Given the description of an element on the screen output the (x, y) to click on. 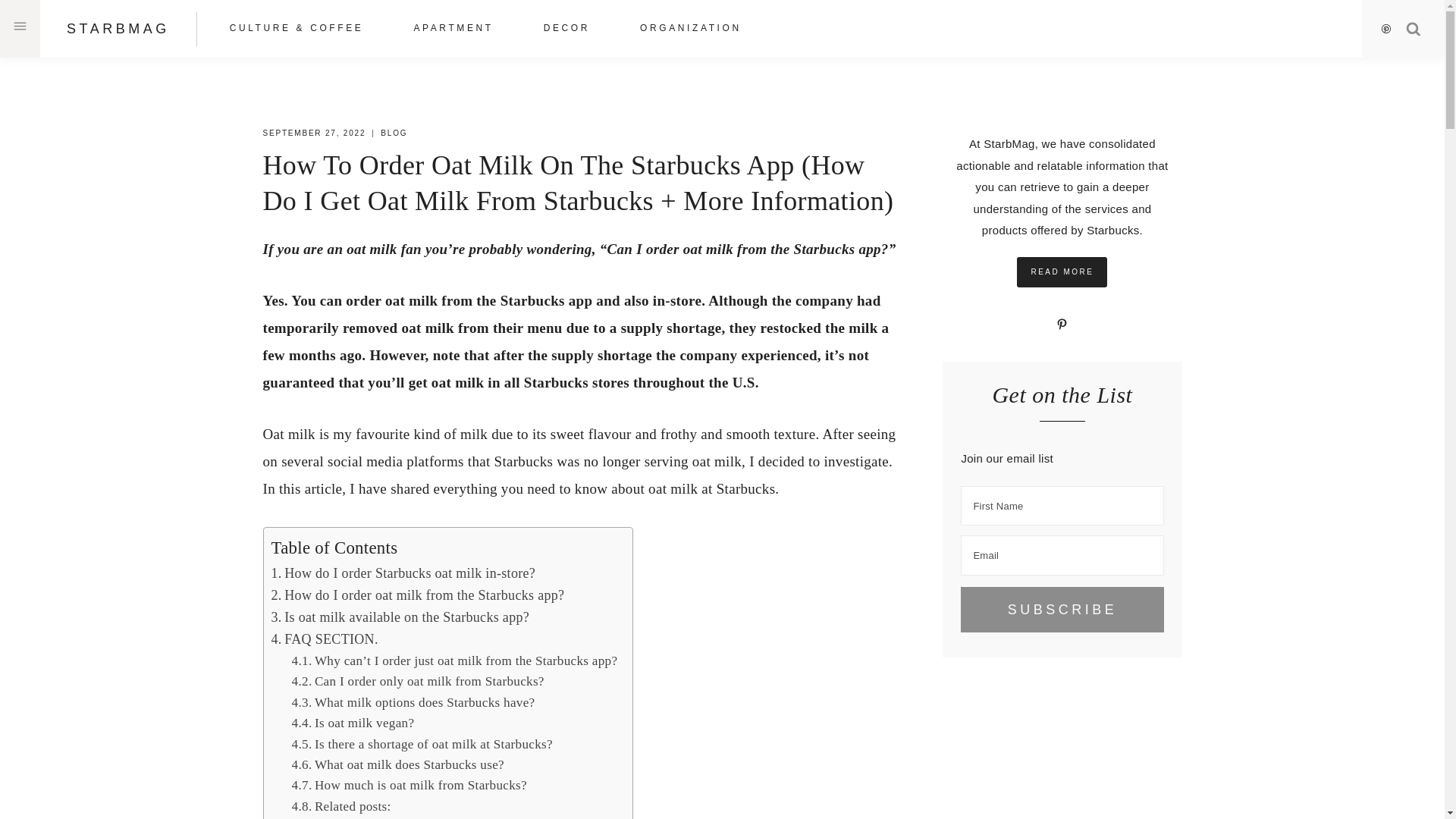
How do I order oat milk from the Starbucks app? (417, 595)
FAQ SECTION. (324, 639)
Is oat milk available on the Starbucks app? (399, 616)
How do I order Starbucks oat milk in-store? (402, 572)
How much is oat milk from Starbucks?  (409, 785)
Related posts: (341, 806)
What milk options does Starbucks have? (413, 702)
How do I order oat milk from the Starbucks app? (417, 595)
What oat milk does Starbucks use? (397, 764)
Subscribe (1061, 609)
